Given the description of an element on the screen output the (x, y) to click on. 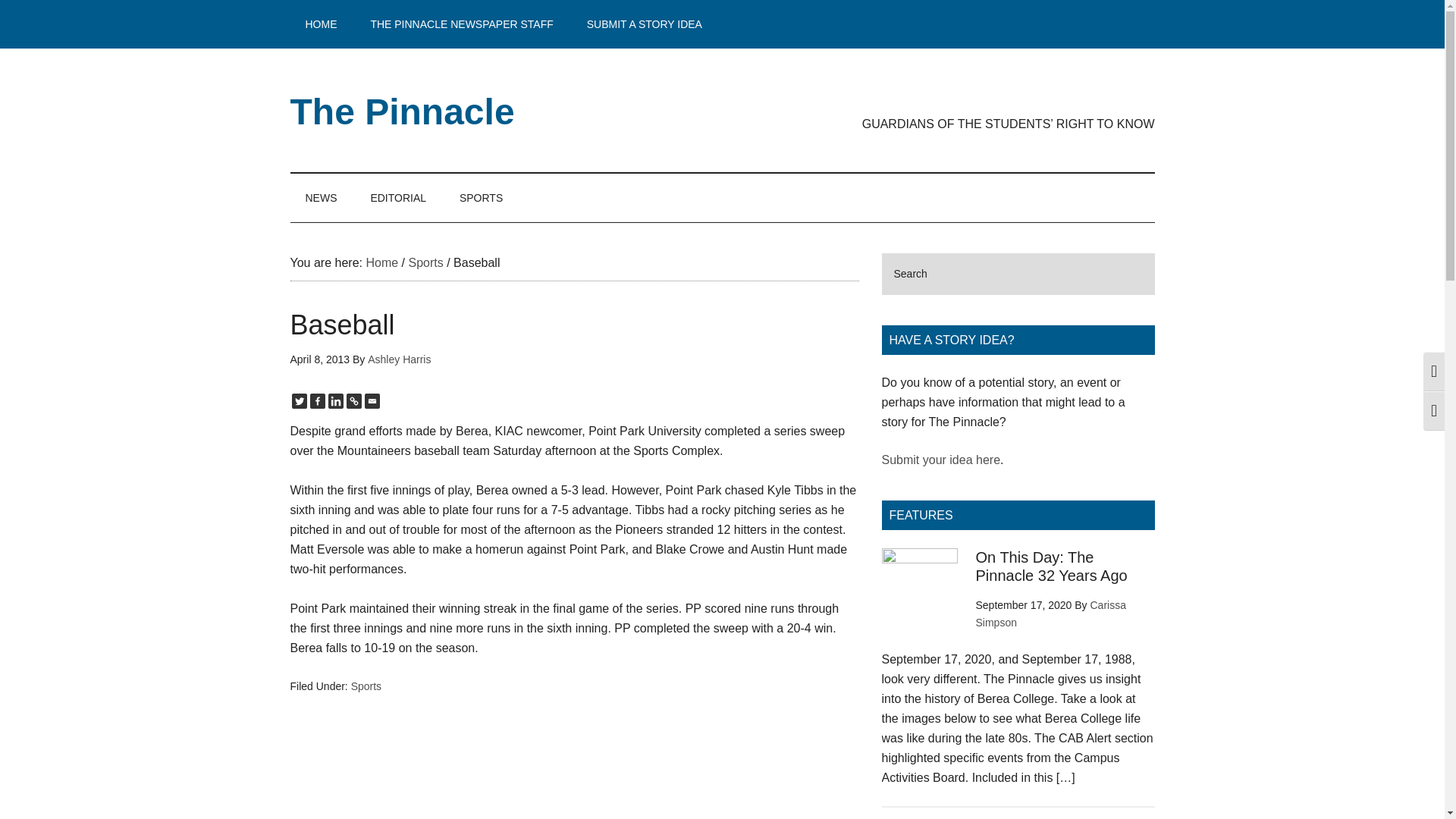
Twitter (298, 400)
SPORTS (481, 197)
Home (381, 262)
Submit your idea here (940, 459)
THE PINNACLE NEWSPAPER STAFF (461, 24)
SUBMIT A STORY IDEA (644, 24)
Ashley Harris (399, 358)
On This Day: The Pinnacle 32 Years Ago (1050, 565)
